Given the description of an element on the screen output the (x, y) to click on. 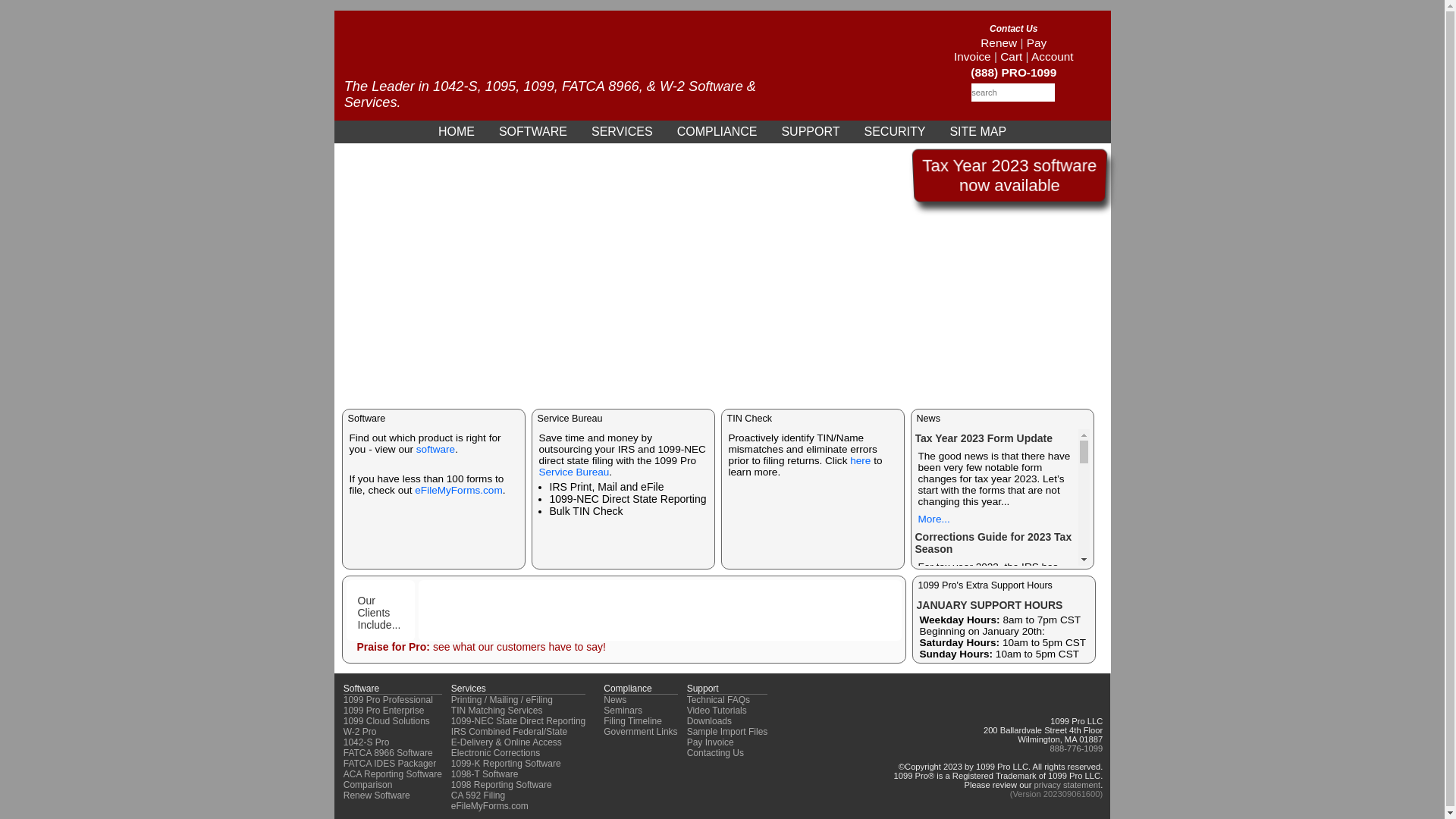
1099 Pro Professional Element type: text (388, 699)
Renew Software Element type: text (376, 795)
FATCA 8966 Software Element type: text (388, 752)
Comparison Element type: text (367, 784)
1098 Reporting Software Element type: text (501, 784)
Account Element type: text (1052, 56)
COMPLIANCE Element type: text (716, 131)
SITE MAP Element type: text (977, 131)
1042-S Pro Element type: text (366, 742)
Contacting Us Element type: text (715, 752)
TIN Matching Services Element type: text (496, 710)
Technical FAQs Element type: text (718, 699)
Printing / Mailing / eFiling Element type: text (501, 699)
Video Tutorials Element type: text (716, 710)
FATCA IDES Packager Element type: text (389, 763)
More... Element type: text (933, 740)
Renew Element type: text (998, 42)
here Element type: text (860, 460)
Pay Invoice Element type: text (710, 742)
privacy statement Element type: text (1066, 784)
Praise for Pro: see what our customers have to say! Element type: text (480, 646)
ACA Reporting Software Element type: text (392, 773)
Service Bureau Element type: text (573, 471)
Cart Element type: text (1011, 56)
Software Element type: text (361, 688)
Electronic Corrections Element type: text (495, 752)
1099 Cloud Solutions Element type: text (386, 720)
Tax Year 2023 software
now available Element type: text (1008, 175)
Government Links Element type: text (640, 731)
E-Delivery & Online Access Element type: text (506, 742)
More... Element type: text (933, 518)
Seminars Element type: text (622, 710)
More... Element type: text (933, 606)
SERVICES Element type: text (622, 131)
software Element type: text (435, 449)
1099 Pro Enterprise Element type: text (383, 710)
CA 592 Filing Element type: text (478, 795)
W-2 Pro Element type: text (359, 731)
Compliance Element type: text (627, 688)
SOFTWARE Element type: text (532, 131)
Services Element type: text (468, 688)
Contact Us Element type: text (1013, 28)
Support Element type: text (702, 688)
Sample Import Files Element type: text (727, 731)
News Element type: text (614, 699)
888-776-1099 Element type: text (1076, 748)
1099-K Reporting Software Element type: text (506, 763)
Pay Invoice Element type: text (999, 49)
eFileMyForms.com Element type: text (489, 805)
SECURITY Element type: text (894, 131)
eFileMyForms.com Element type: text (458, 489)
Downloads Element type: text (709, 720)
IRS Combined Federal/State Element type: text (509, 731)
(888) PRO-1099 Element type: text (1013, 71)
1099-NEC State Direct Reporting Element type: text (518, 720)
SUPPORT Element type: text (809, 131)
1098-T Software Element type: text (484, 773)
Filing Timeline Element type: text (632, 720)
HOME Element type: text (456, 131)
